Given the description of an element on the screen output the (x, y) to click on. 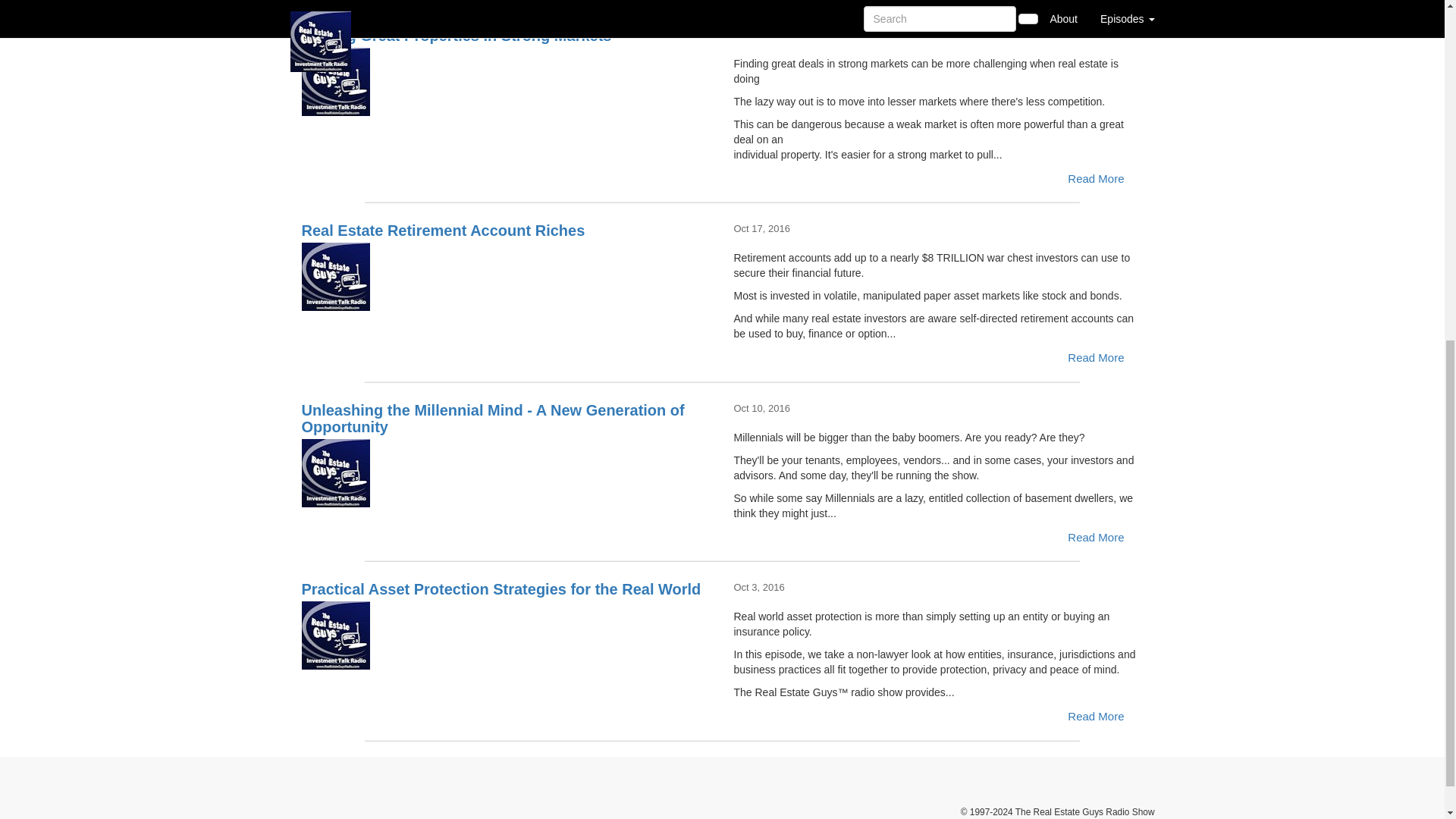
Real Estate Retirement Account Riches (506, 276)
Practical Asset Protection Strategies for the Real World (506, 635)
Finding Great Properties in Strong Markets (506, 81)
